Given the description of an element on the screen output the (x, y) to click on. 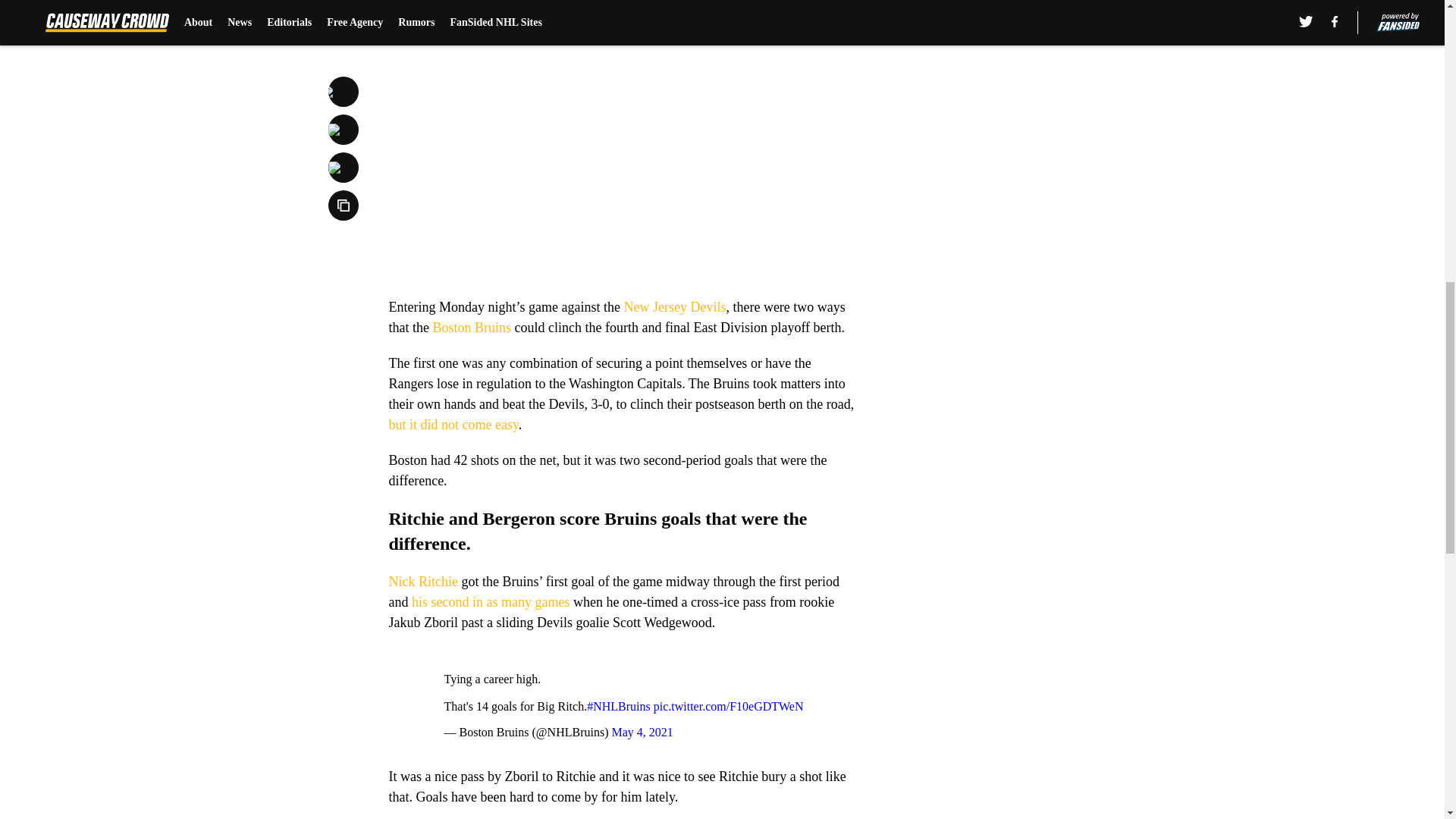
New Jersey Devils (674, 306)
but it did not come easy (453, 424)
May 4, 2021 (641, 731)
his second in as many games (488, 601)
Boston Bruins (471, 327)
Nick Ritchie (422, 581)
